Given the description of an element on the screen output the (x, y) to click on. 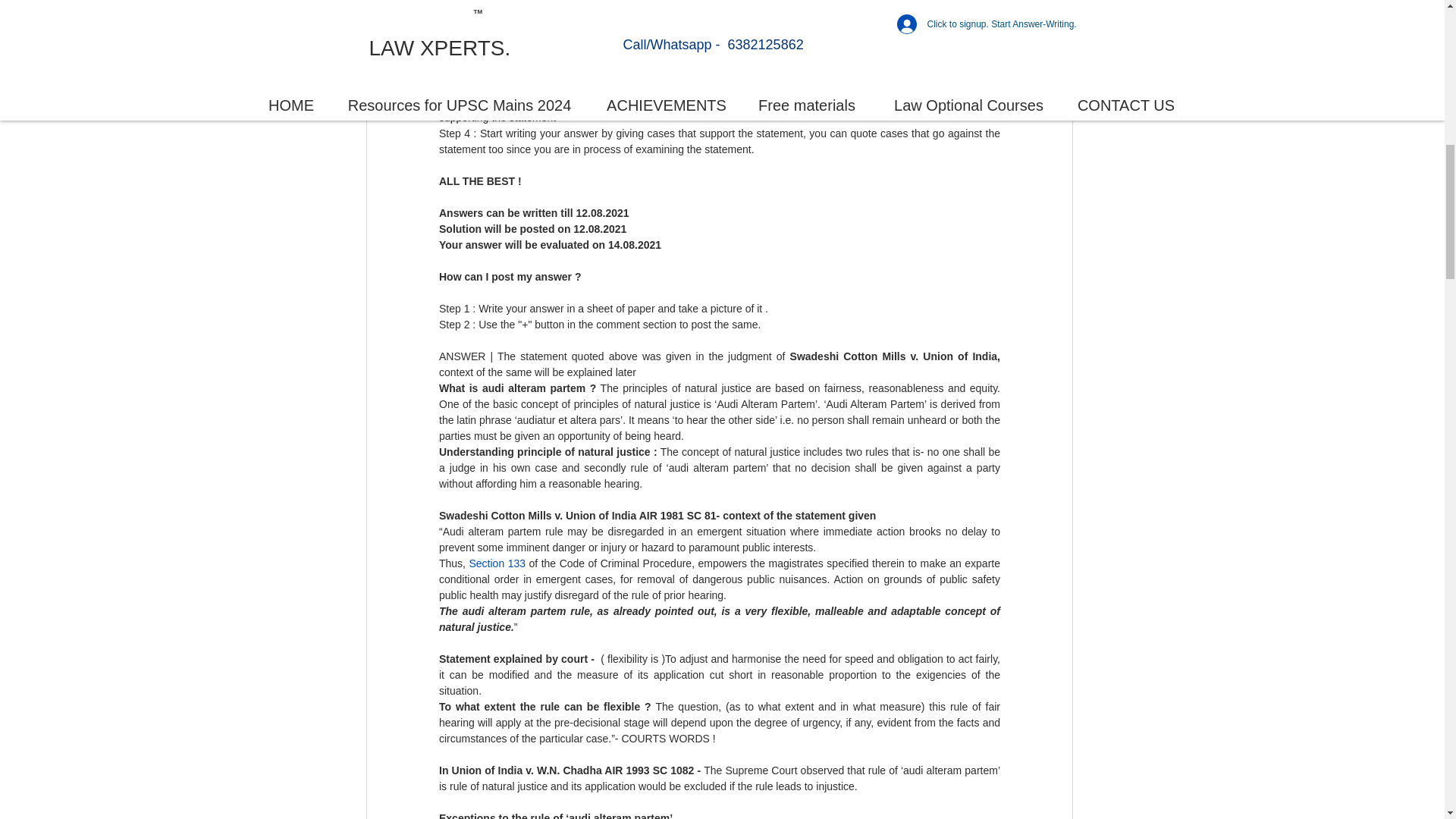
Section 133 (496, 563)
